Given the description of an element on the screen output the (x, y) to click on. 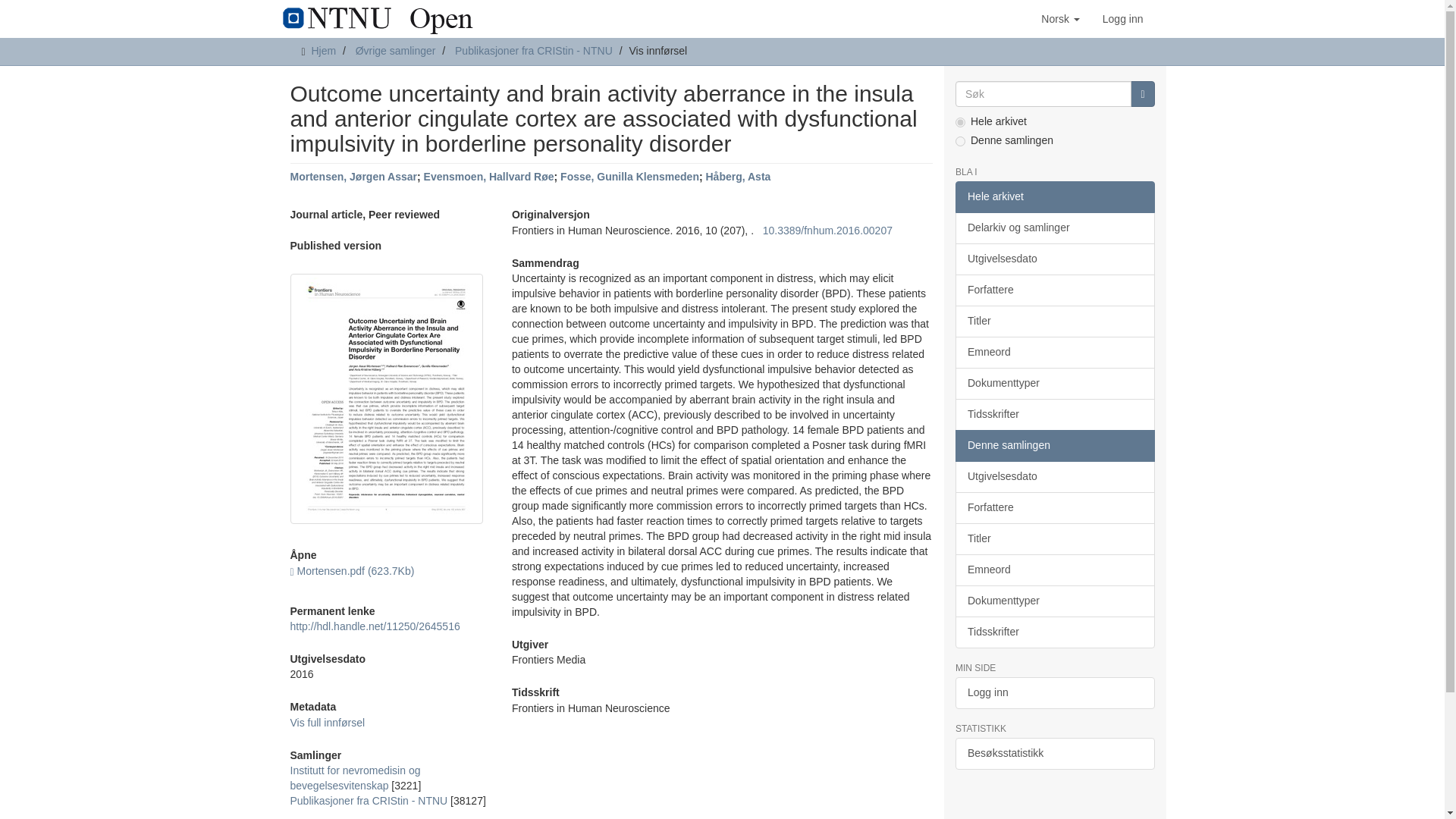
Publikasjoner fra CRIStin - NTNU (367, 800)
Institutt for nevromedisin og bevegelsesvitenskap (354, 777)
Logg inn (1122, 18)
Publikasjoner fra CRIStin - NTNU (533, 50)
Norsk  (1059, 18)
Hele arkivet (1054, 196)
Fosse, Gunilla Klensmeden (629, 176)
Delarkiv og samlinger (1054, 228)
Hjem (323, 50)
